Given the description of an element on the screen output the (x, y) to click on. 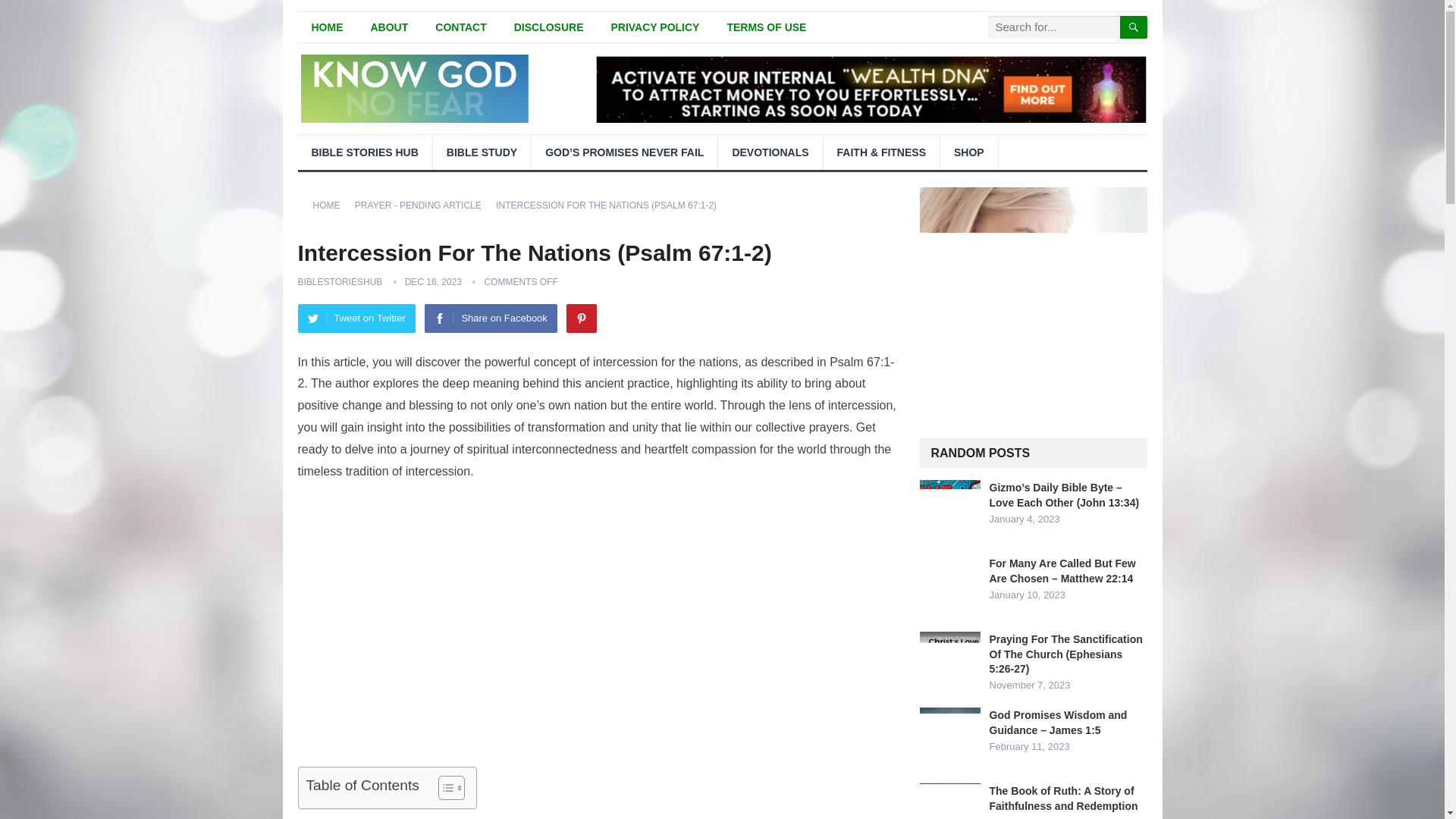
ABOUT (389, 27)
CONTACT (460, 27)
PRAYER - PENDING ARTICLE (423, 204)
Posts by biblestorieshub (339, 281)
BIBLESTORIESHUB (339, 281)
Tweet on Twitter (355, 317)
View all posts in Prayer - pending article (423, 204)
TERMS OF USE (766, 27)
PRIVACY POLICY (654, 27)
Share on Facebook (490, 317)
HOME (326, 27)
DISCLOSURE (548, 27)
HOME (331, 204)
BIBLE STORIES HUB (363, 152)
BIBLE STUDY (481, 152)
